Given the description of an element on the screen output the (x, y) to click on. 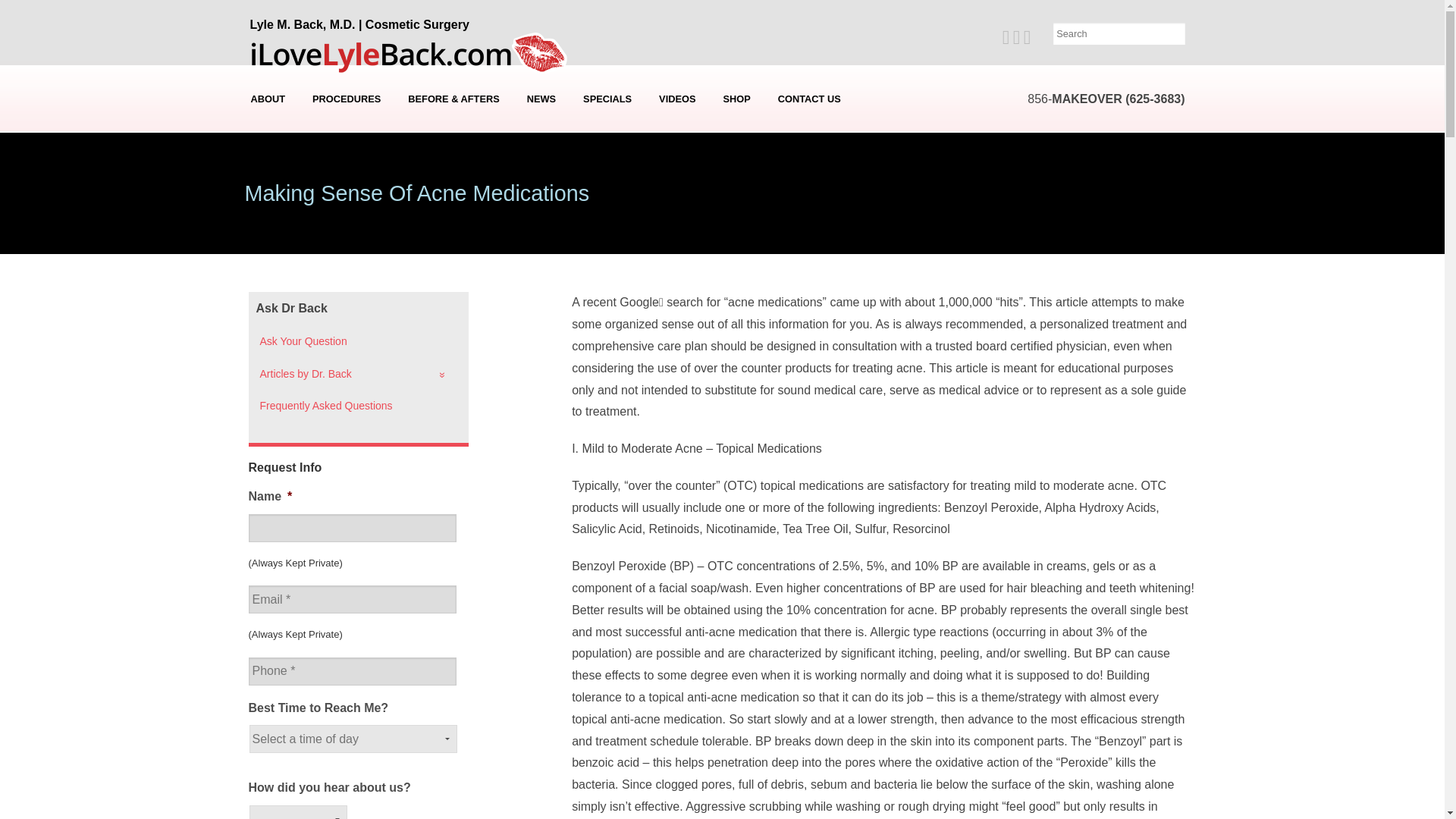
TESTIMONIALS (268, 151)
CONTACT US (809, 98)
MEN (346, 220)
IN THE NEWS (543, 128)
NEWS (541, 98)
BREAST (346, 151)
COSMETIC SKIN CARE (346, 265)
Cosmetic surgery and skin care services (346, 98)
About Cosmetic Skin Care Specialists of Cherry Hill (268, 197)
NEWSLETTER (543, 151)
PRESS RELEASES (543, 174)
VIDEOS (676, 98)
Lyle M. Back M.D. Cosmetic Surgery (411, 50)
COSMETIC SKIN CARE SPECIALISTS (268, 197)
COSMETIC SURGERY CENTER (268, 174)
